Given the description of an element on the screen output the (x, y) to click on. 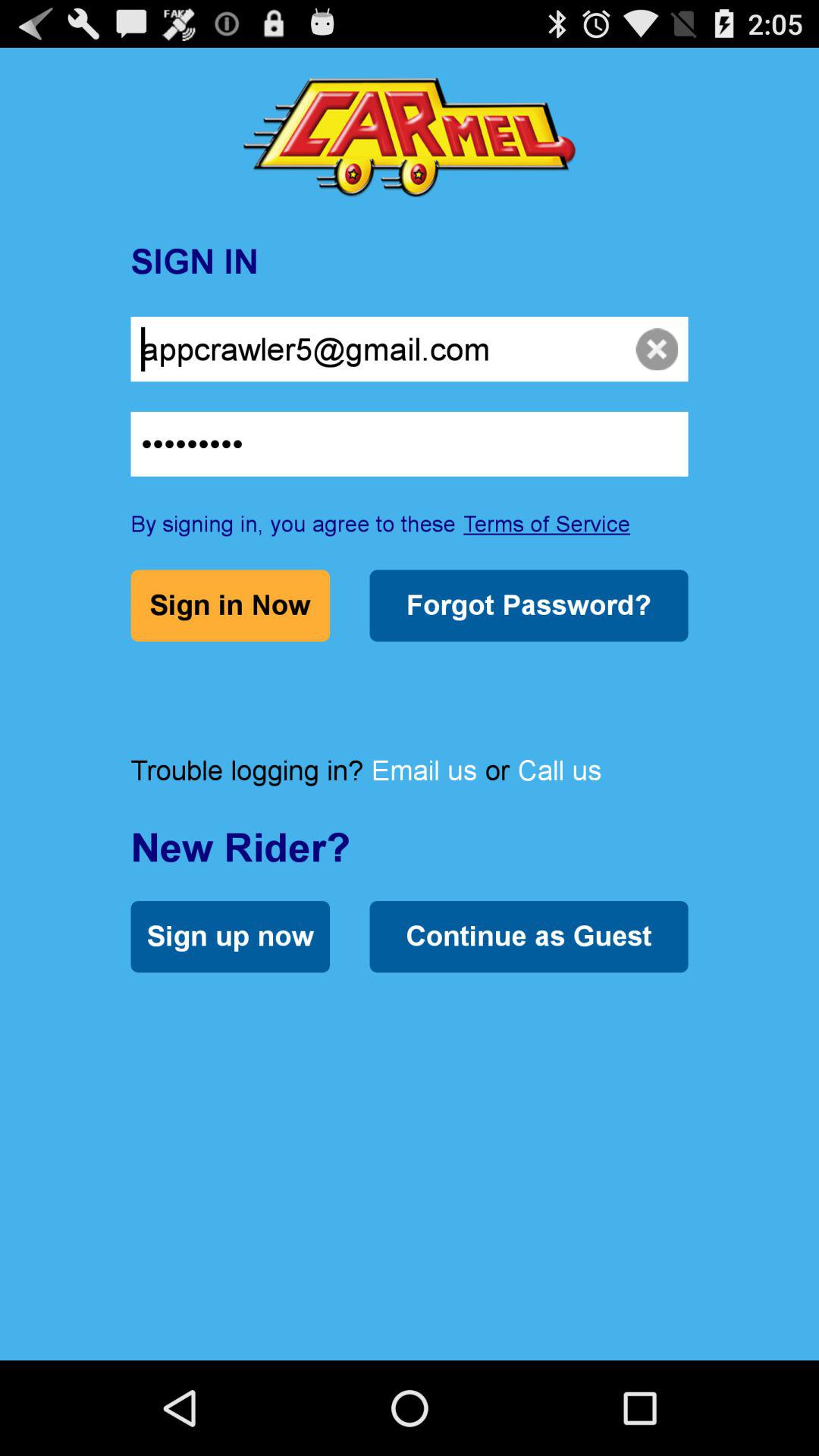
turn on the icon below crowd3116 item (546, 523)
